Given the description of an element on the screen output the (x, y) to click on. 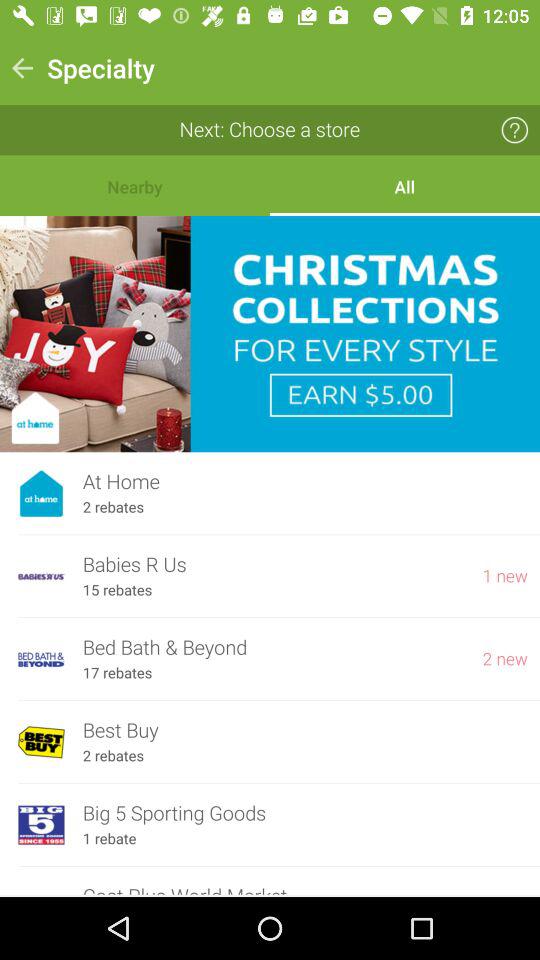
open 1 rebate (109, 838)
